Given the description of an element on the screen output the (x, y) to click on. 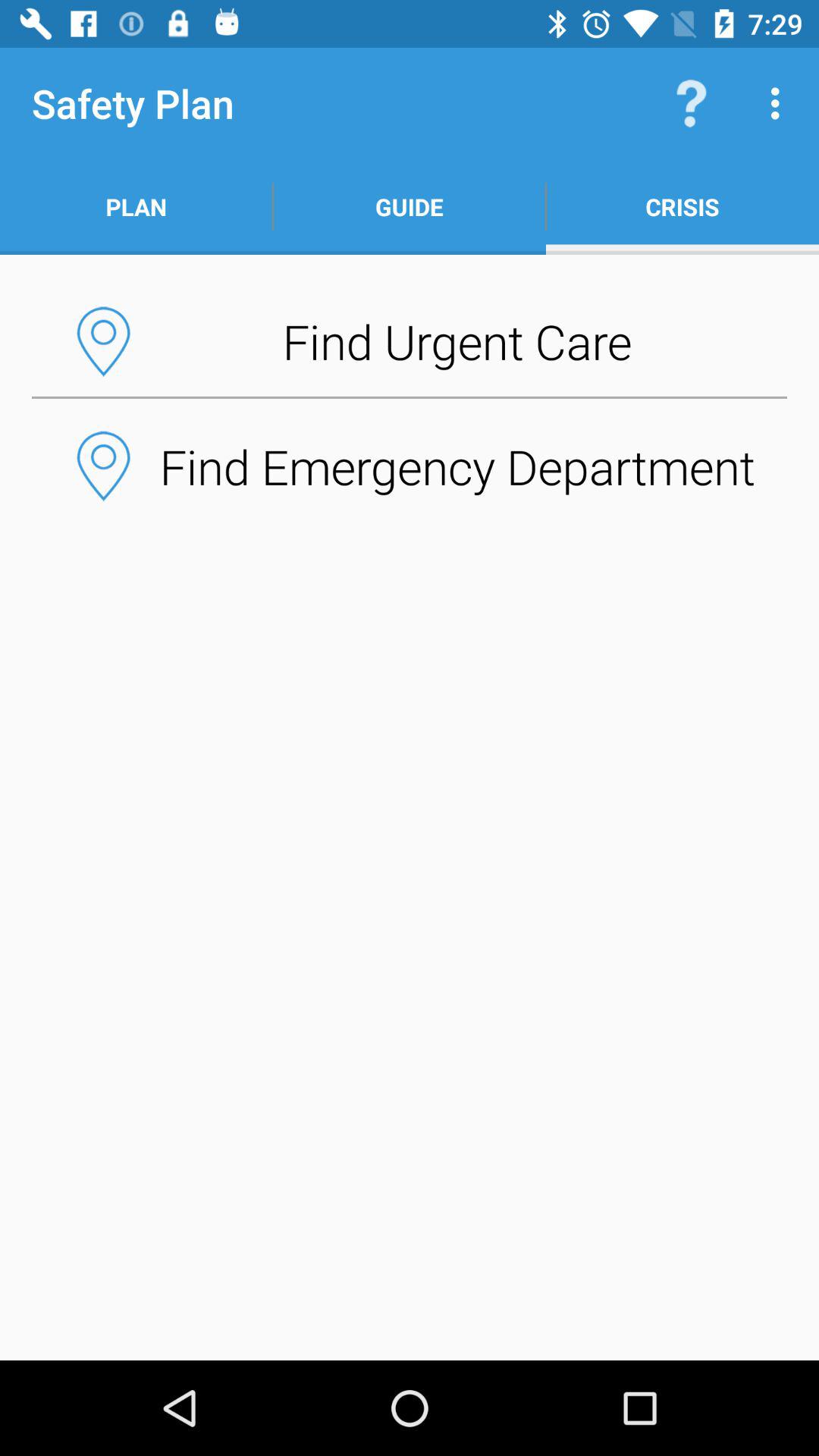
tap the app to the left of crisis app (409, 206)
